Given the description of an element on the screen output the (x, y) to click on. 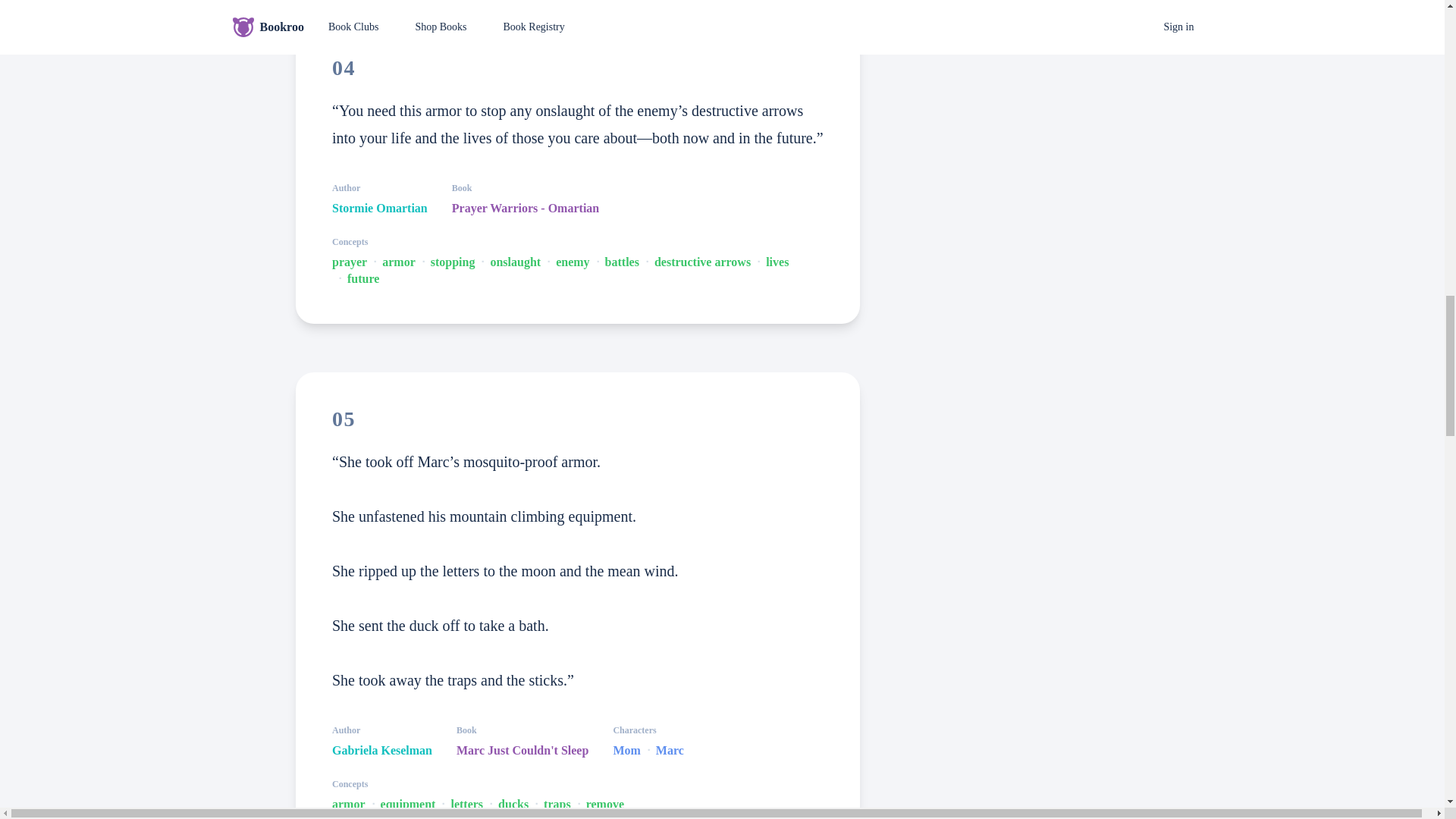
armor (397, 262)
battles (622, 262)
Stormie Omartian (379, 208)
prayer (348, 262)
enemy (572, 262)
stopping (453, 262)
onslaught (514, 262)
destructive arrows (702, 262)
Prayer Warriors - Omartian (524, 208)
